Given the description of an element on the screen output the (x, y) to click on. 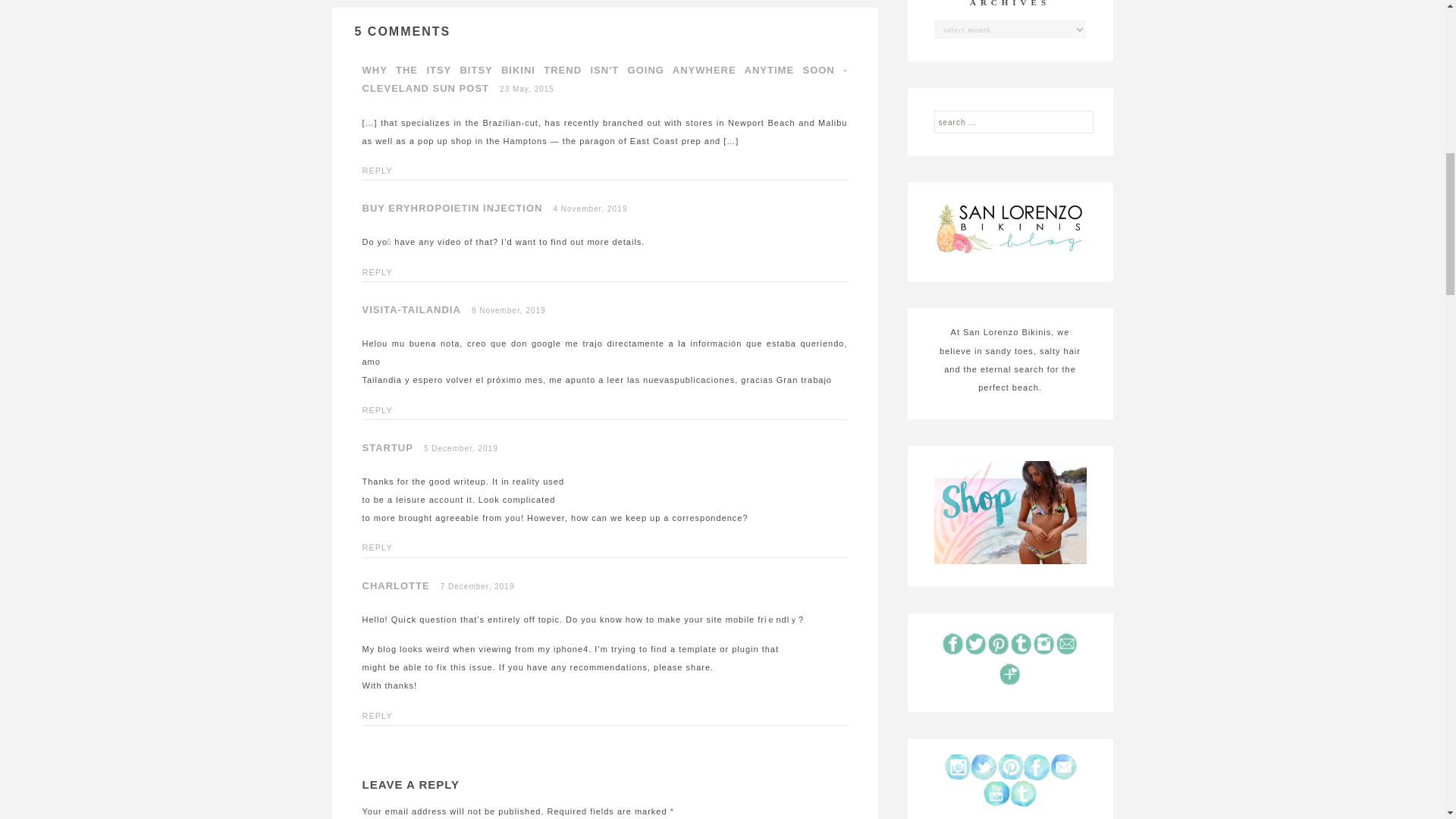
REPLY (377, 271)
Facebook (1036, 766)
Twitter (984, 766)
STARTUP (387, 447)
Tumblr (1023, 793)
Pinterest (1009, 766)
CHARLOTTE (395, 585)
Email (1062, 766)
REPLY (377, 547)
REPLY (377, 715)
BUY ERYHROPOIETIN INJECTION (452, 207)
VISITA-TAILANDIA (411, 309)
YouTube (997, 793)
REPLY (377, 409)
